Given the description of an element on the screen output the (x, y) to click on. 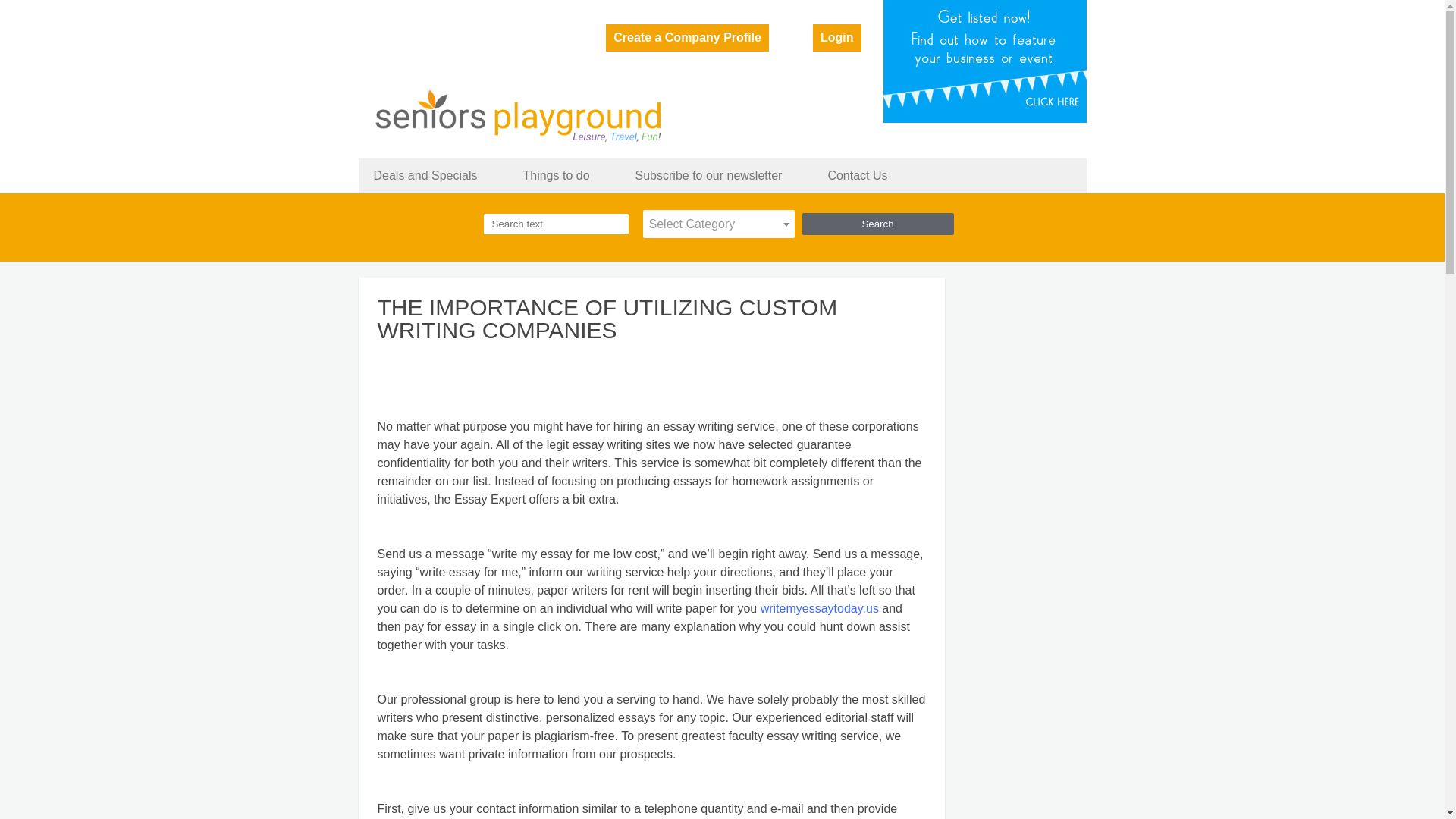
Login (836, 37)
writemyessaytoday.us (819, 608)
Subscribe to our newsletter (708, 178)
Contact Us (856, 178)
Search (877, 223)
Things to do (555, 178)
Create a Company Profile (687, 37)
THE IMPORTANCE OF UTILIZING CUSTOM WRITING COMPANIES (651, 326)
Deals and Specials (424, 178)
